Given the description of an element on the screen output the (x, y) to click on. 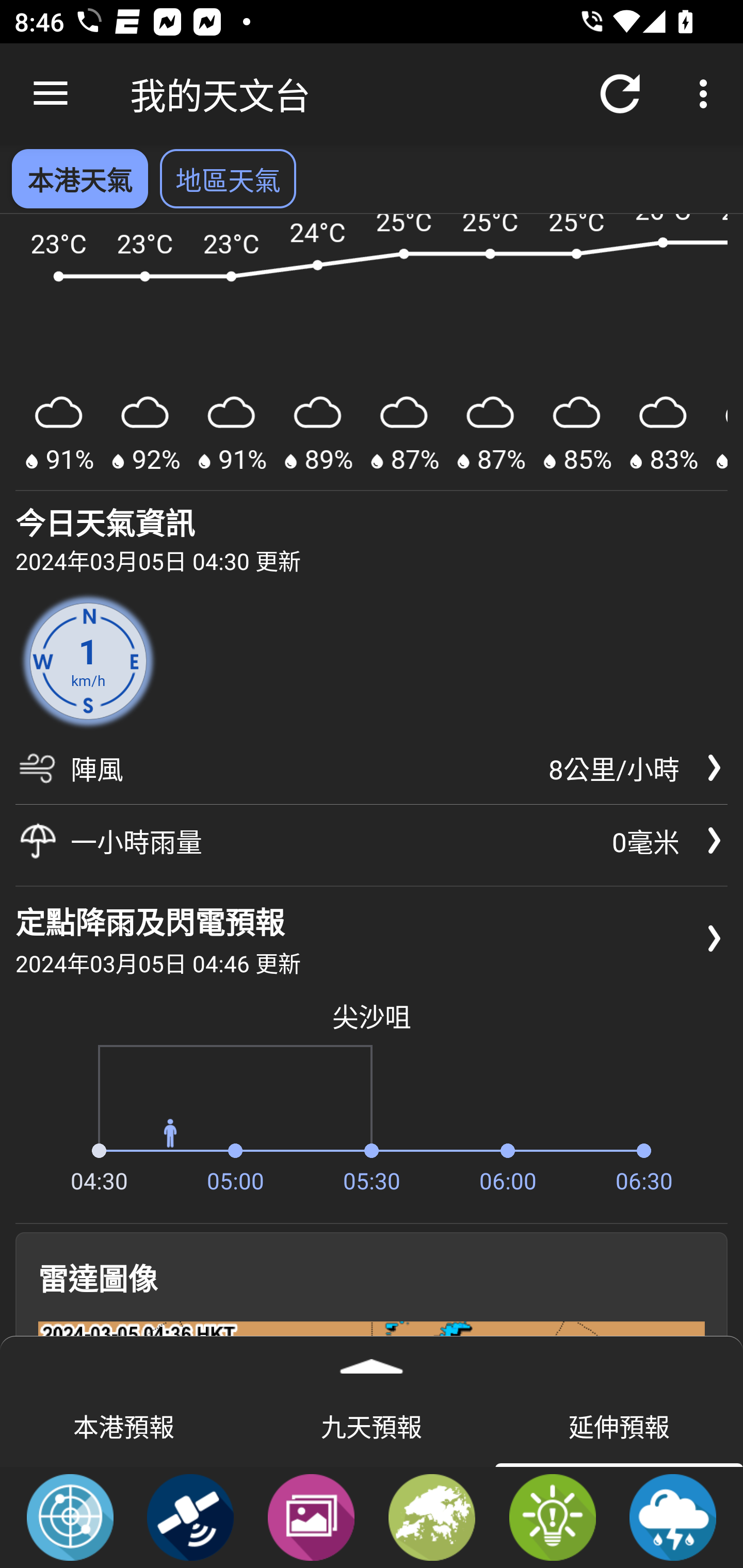
向上瀏覽 (50, 93)
重新整理 (619, 93)
更多選項 (706, 93)
本港天氣 已選擇 本港天氣 (79, 178)
地區天氣 選擇 地區天氣 (227, 178)
九天自動天氣預報 圖片
輕按進入內頁，即可了解詳細資料。 ARWF (371, 352)
風向不定
風速每小時1公里 1 km/h (88, 660)
陣風 8公里/小時 陣風 8公里/小時 (371, 775)
一小時雨量 0毫米 一小時雨量 0毫米 (371, 841)
展開 (371, 1358)
本港預報 (123, 1424)
九天預報 (371, 1424)
雷達圖像 (69, 1516)
衛星圖像 (190, 1516)
天氣照片 (310, 1516)
分區天氣 (431, 1516)
天氣提示 (551, 1516)
定點降雨及閃電預報 (672, 1516)
